Given the description of an element on the screen output the (x, y) to click on. 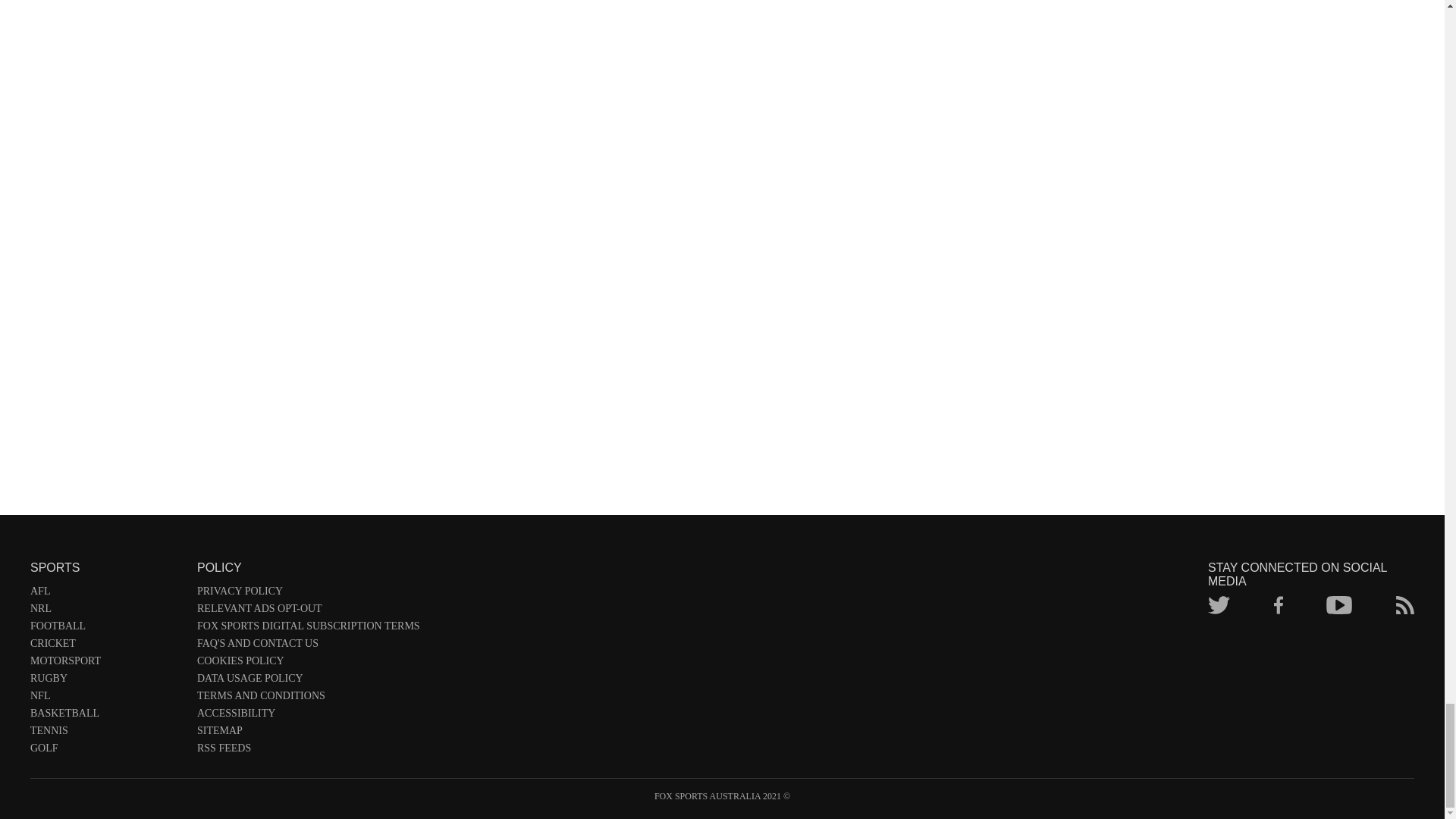
MOTORSPORT (106, 663)
TENNIS (106, 733)
GOLF (106, 751)
NFL (106, 698)
RUGBY (106, 681)
TERMS AND CONDITIONS (308, 698)
NRL (106, 610)
FOOTBALL (106, 628)
BASKETBALL (106, 715)
COOKIES POLICY (308, 663)
FOX SPORTS DIGITAL SUBSCRIPTION TERMS (308, 628)
RELEVANT ADS OPT-OUT (308, 610)
RSS FEEDS (308, 751)
CRICKET (106, 646)
PRIVACY POLICY (308, 593)
